Given the description of an element on the screen output the (x, y) to click on. 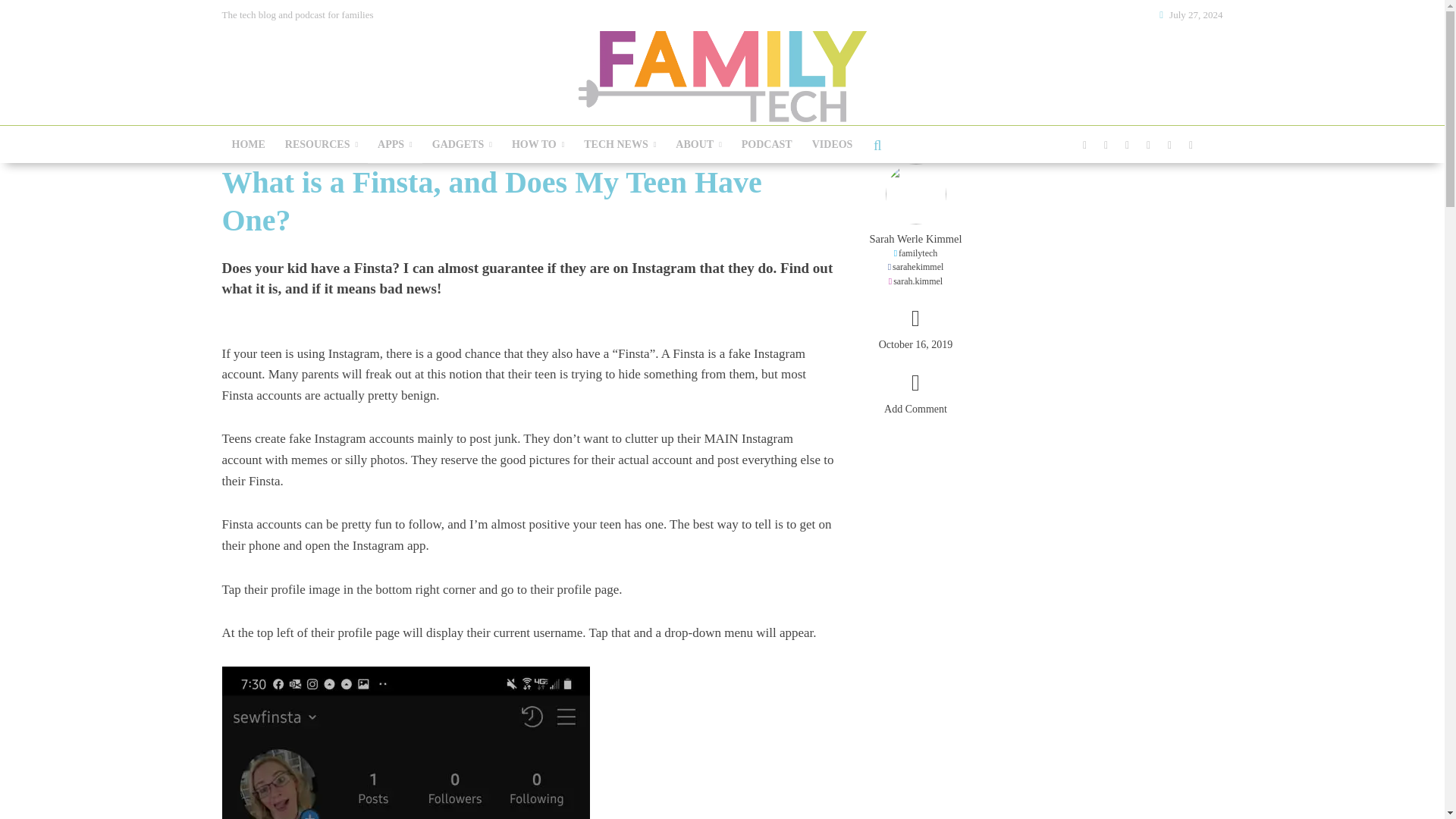
HOME (248, 144)
APPS (395, 144)
TECH NEWS (619, 144)
GADGETS (462, 144)
ABOUT (697, 144)
RESOURCES (321, 144)
HOW TO (537, 144)
